Given the description of an element on the screen output the (x, y) to click on. 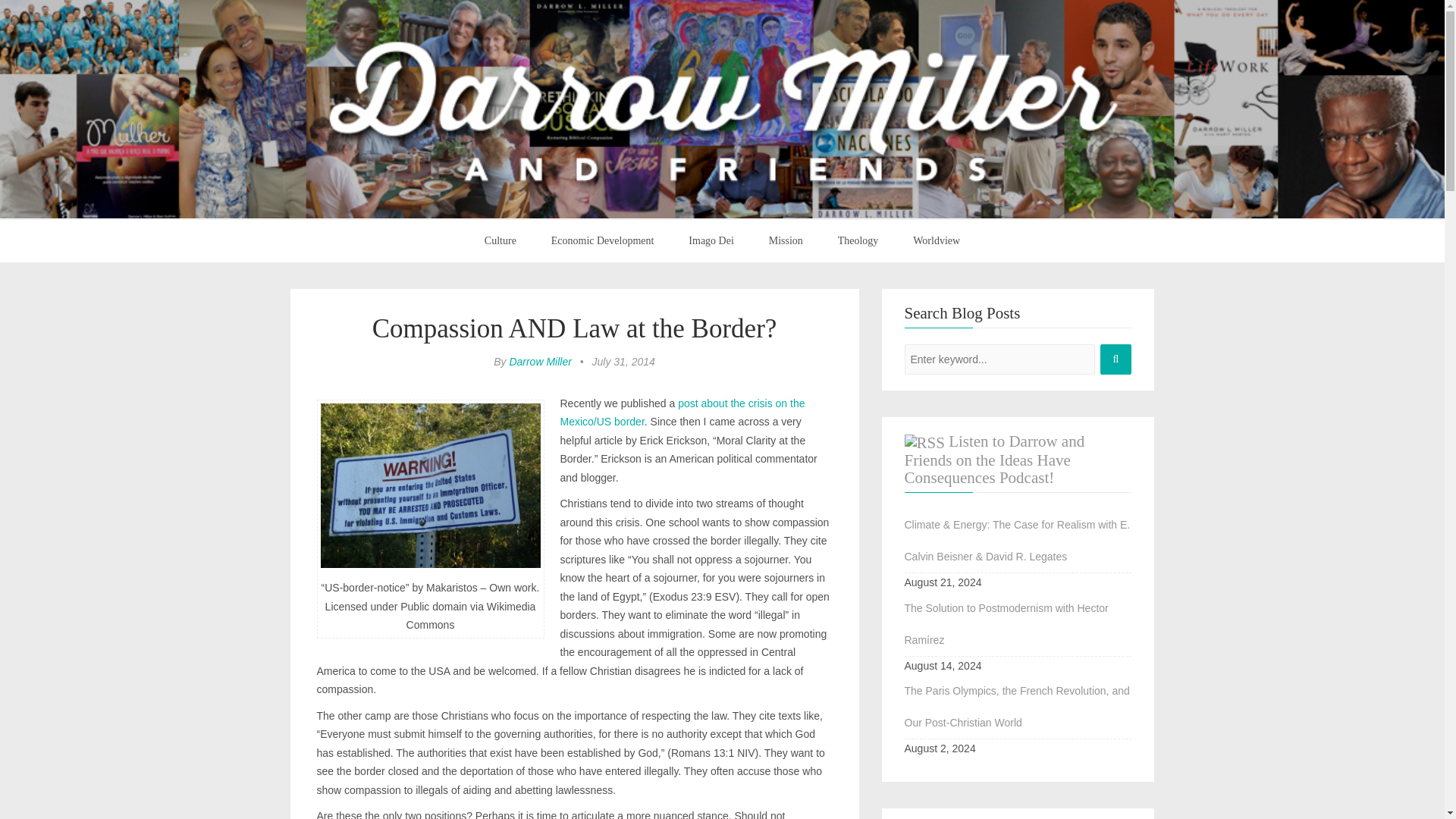
Posts by Darrow Miller (539, 361)
Imago Dei (710, 241)
Economic Development (602, 241)
Theology (858, 241)
Mission (785, 241)
Culture (500, 241)
